Given the description of an element on the screen output the (x, y) to click on. 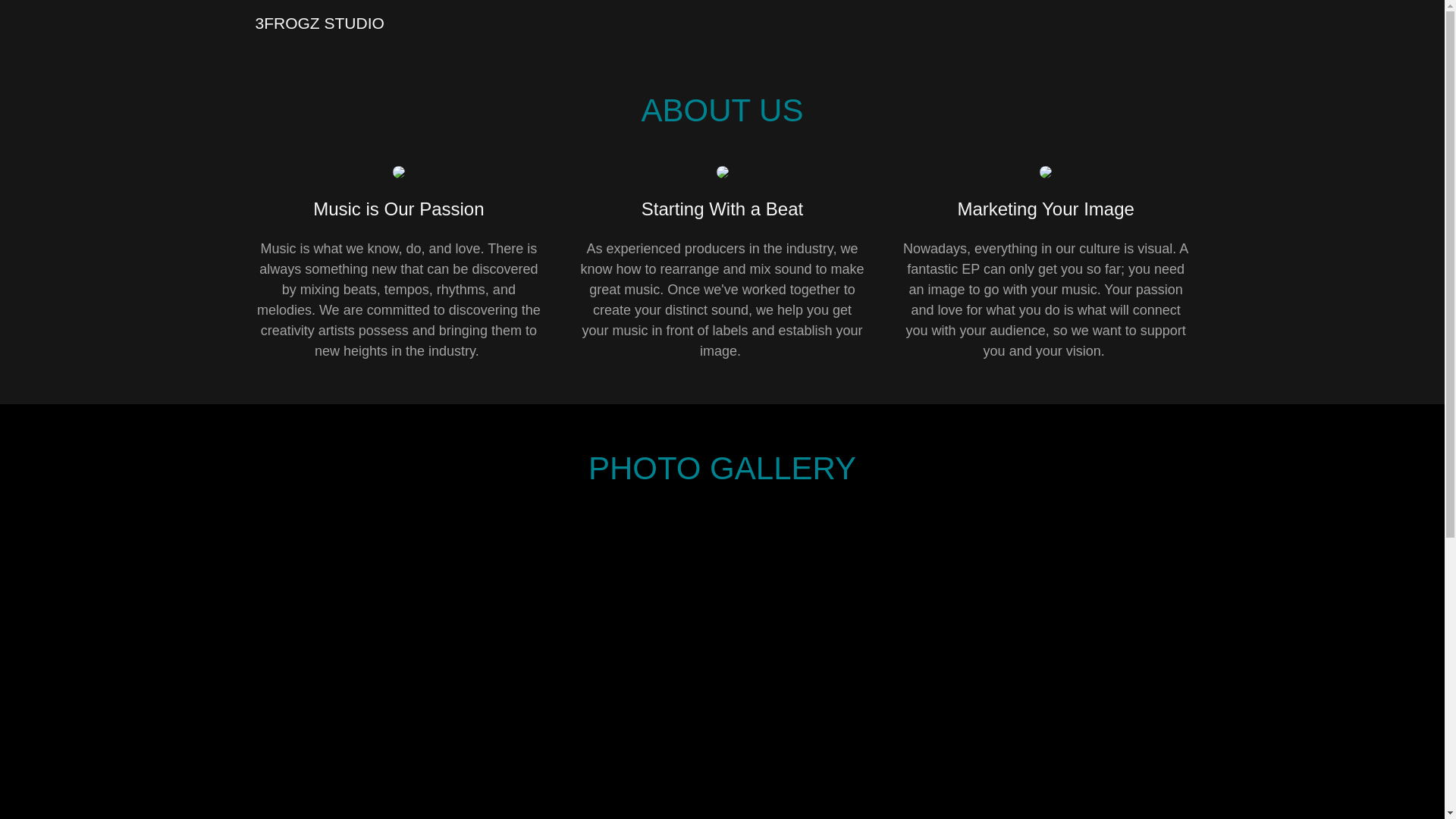
3FROGZ STUDIO Element type: text (318, 23)
